Given the description of an element on the screen output the (x, y) to click on. 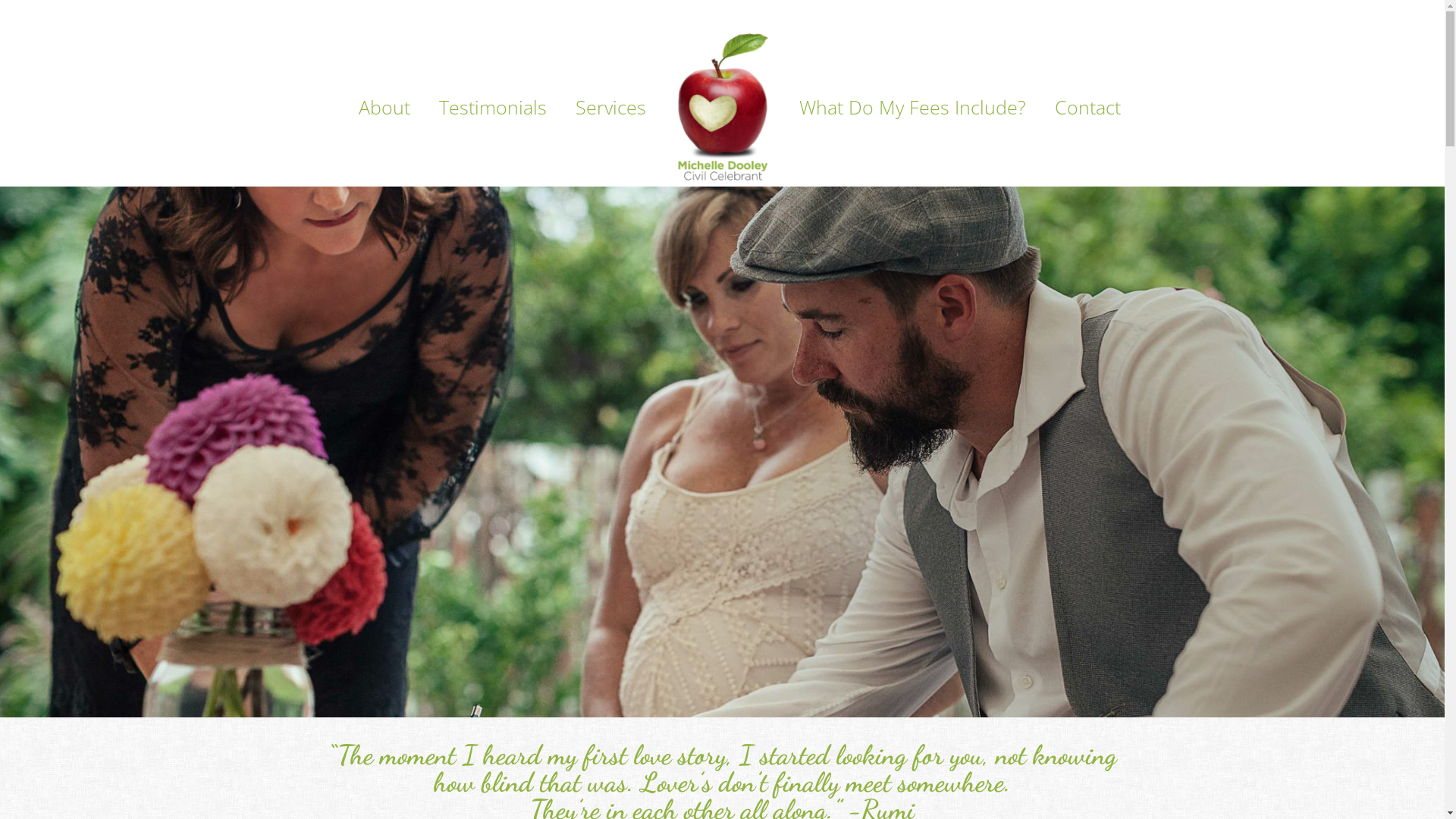
Testimonials Element type: text (492, 106)
What Do My Fees Include? Element type: text (911, 106)
About Element type: text (384, 106)
Contact Element type: text (1087, 106)
Services Element type: text (610, 106)
